Given the description of an element on the screen output the (x, y) to click on. 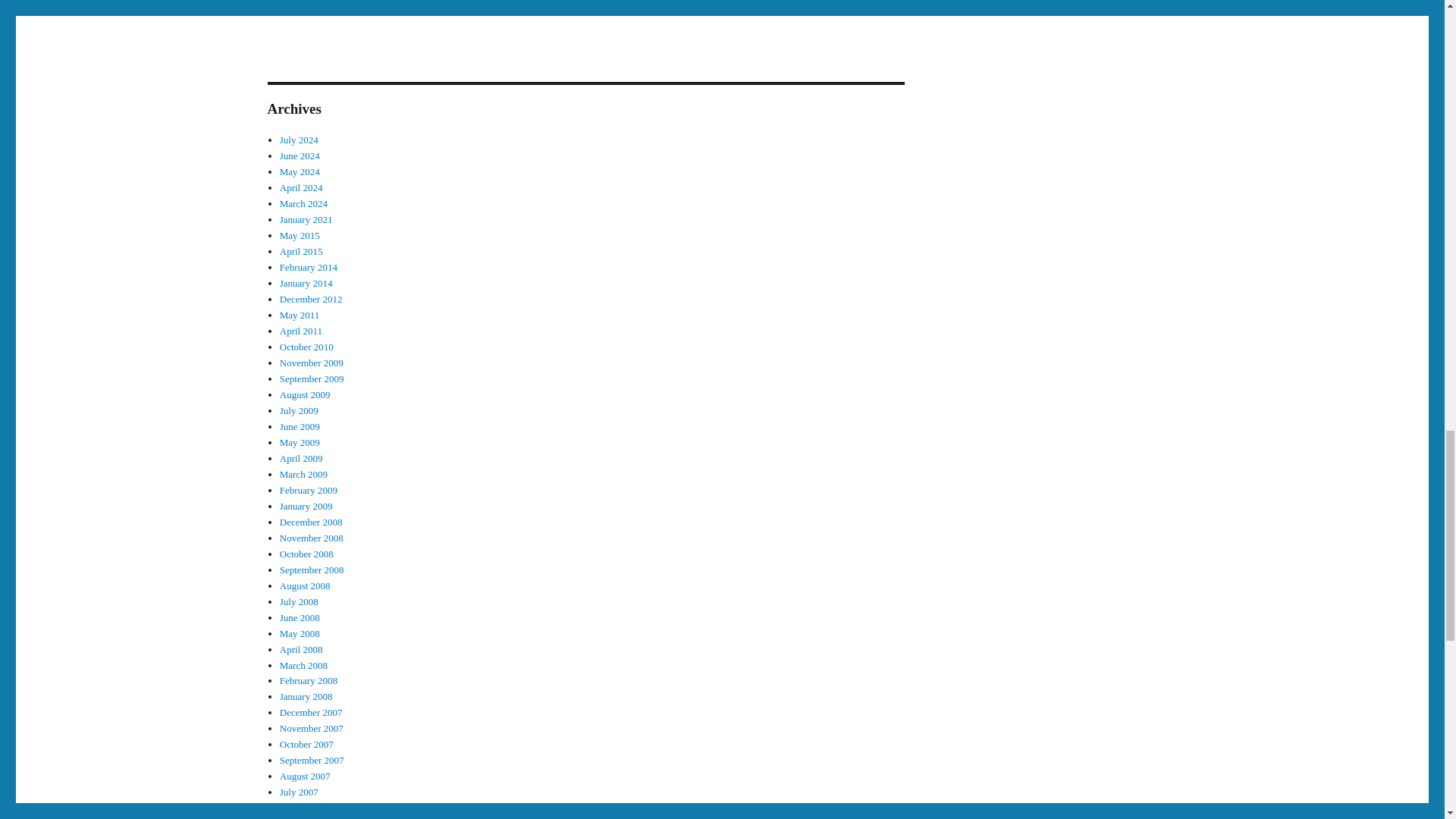
January 2021 (306, 219)
December 2012 (310, 298)
June 2009 (299, 426)
July 2024 (298, 139)
November 2009 (311, 362)
April 2024 (301, 187)
March 2024 (303, 203)
January 2014 (306, 283)
April 2015 (301, 251)
April 2011 (300, 330)
March 2009 (303, 473)
October 2008 (306, 553)
December 2008 (310, 521)
May 2011 (299, 315)
June 2024 (299, 155)
